Given the description of an element on the screen output the (x, y) to click on. 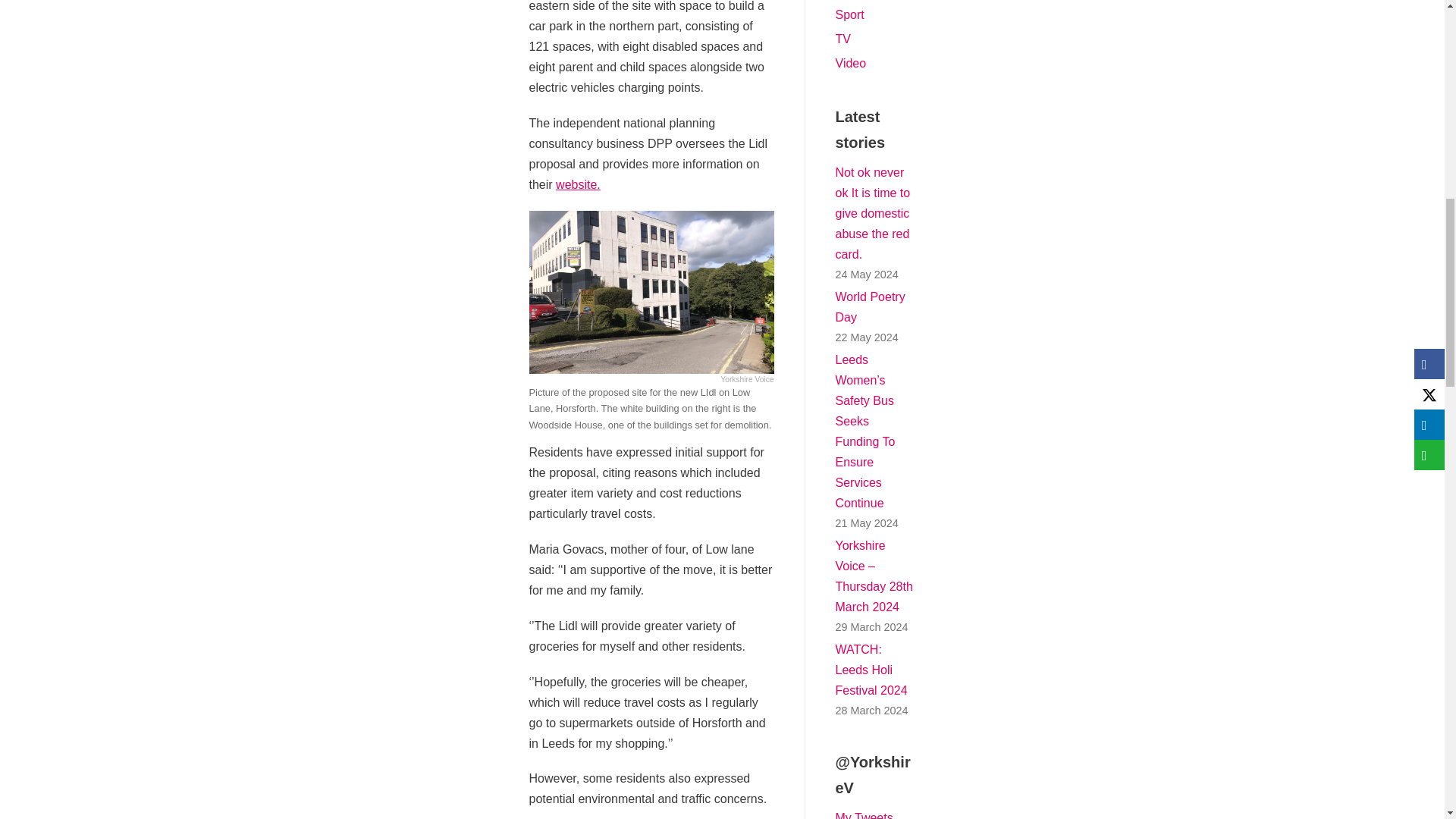
website. (577, 184)
